Given the description of an element on the screen output the (x, y) to click on. 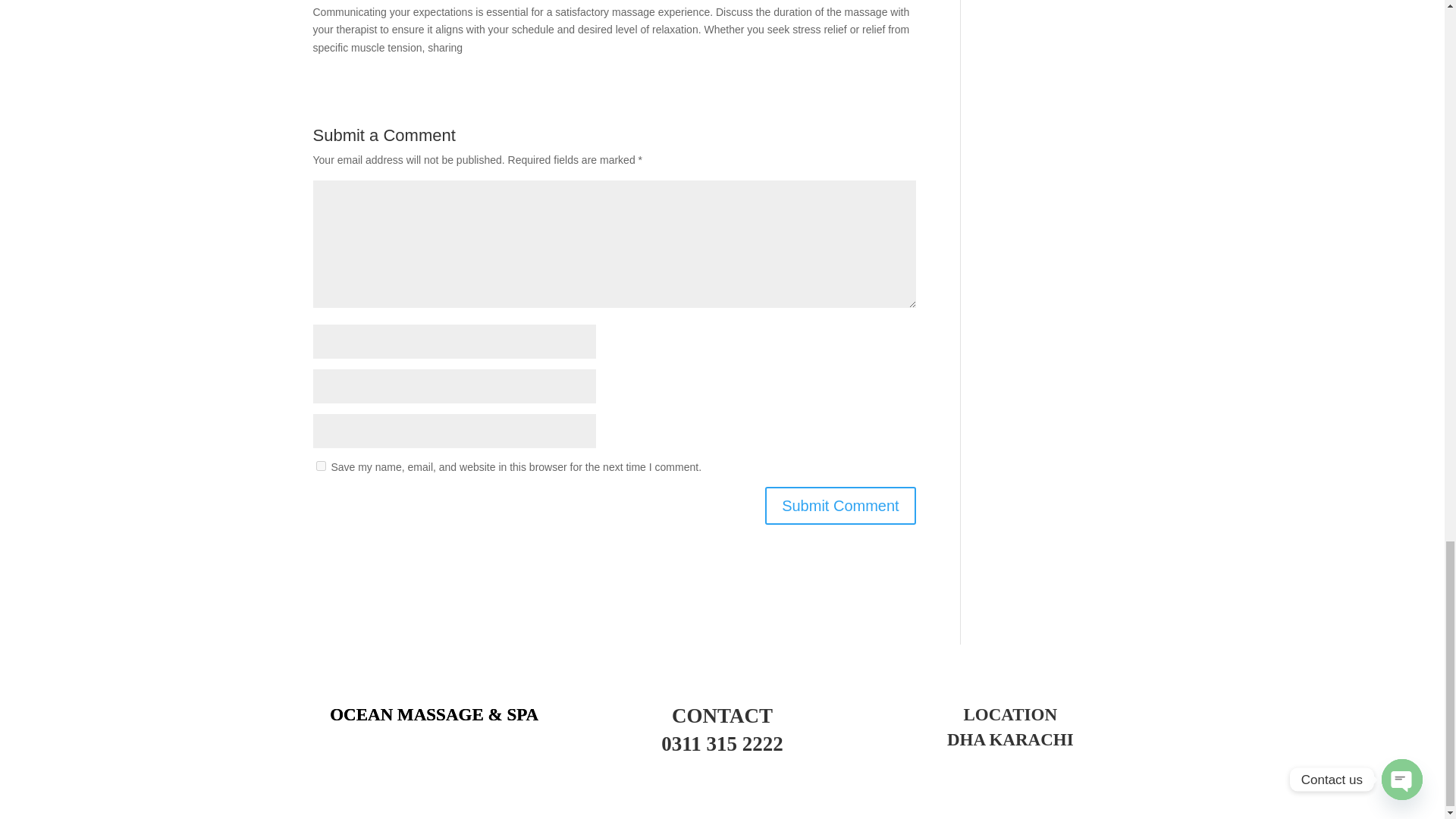
Submit Comment (840, 505)
yes (319, 465)
Submit Comment (840, 505)
